Given the description of an element on the screen output the (x, y) to click on. 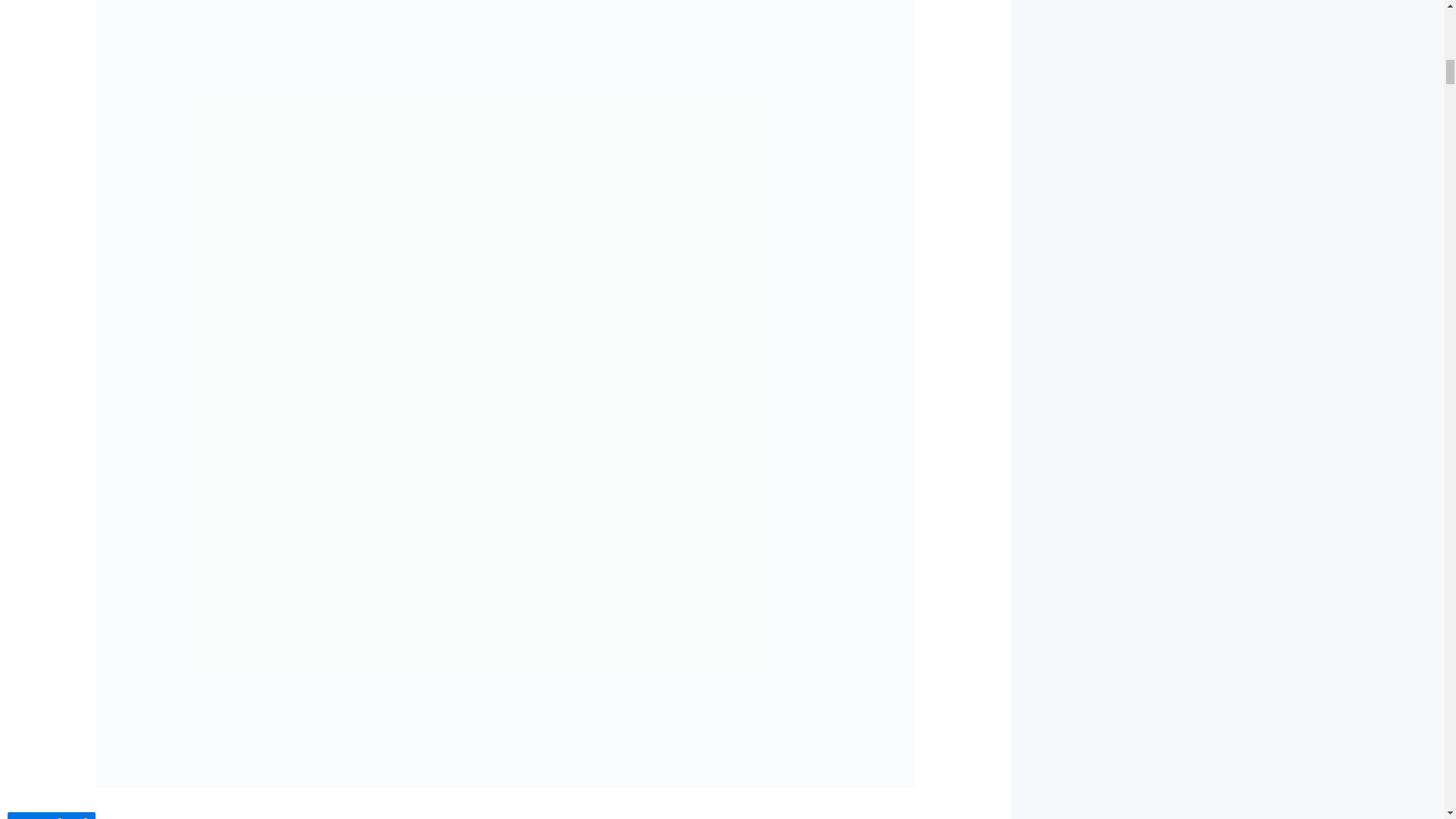
Download (51, 818)
Download (51, 815)
